Given the description of an element on the screen output the (x, y) to click on. 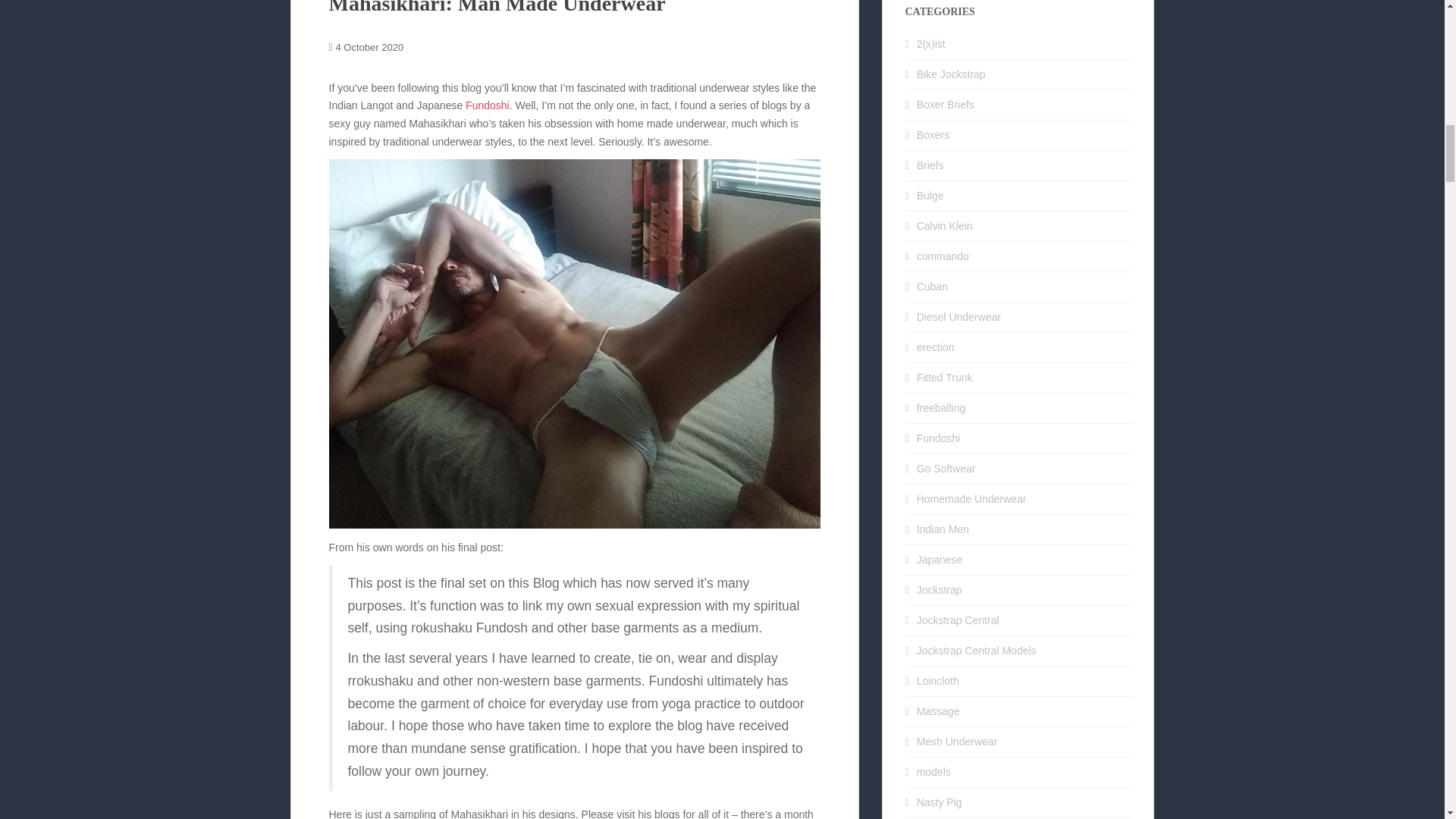
Fundoshi (487, 105)
Mahasikhari: Man Made Underwear (497, 7)
4 October 2020 (370, 47)
